Given the description of an element on the screen output the (x, y) to click on. 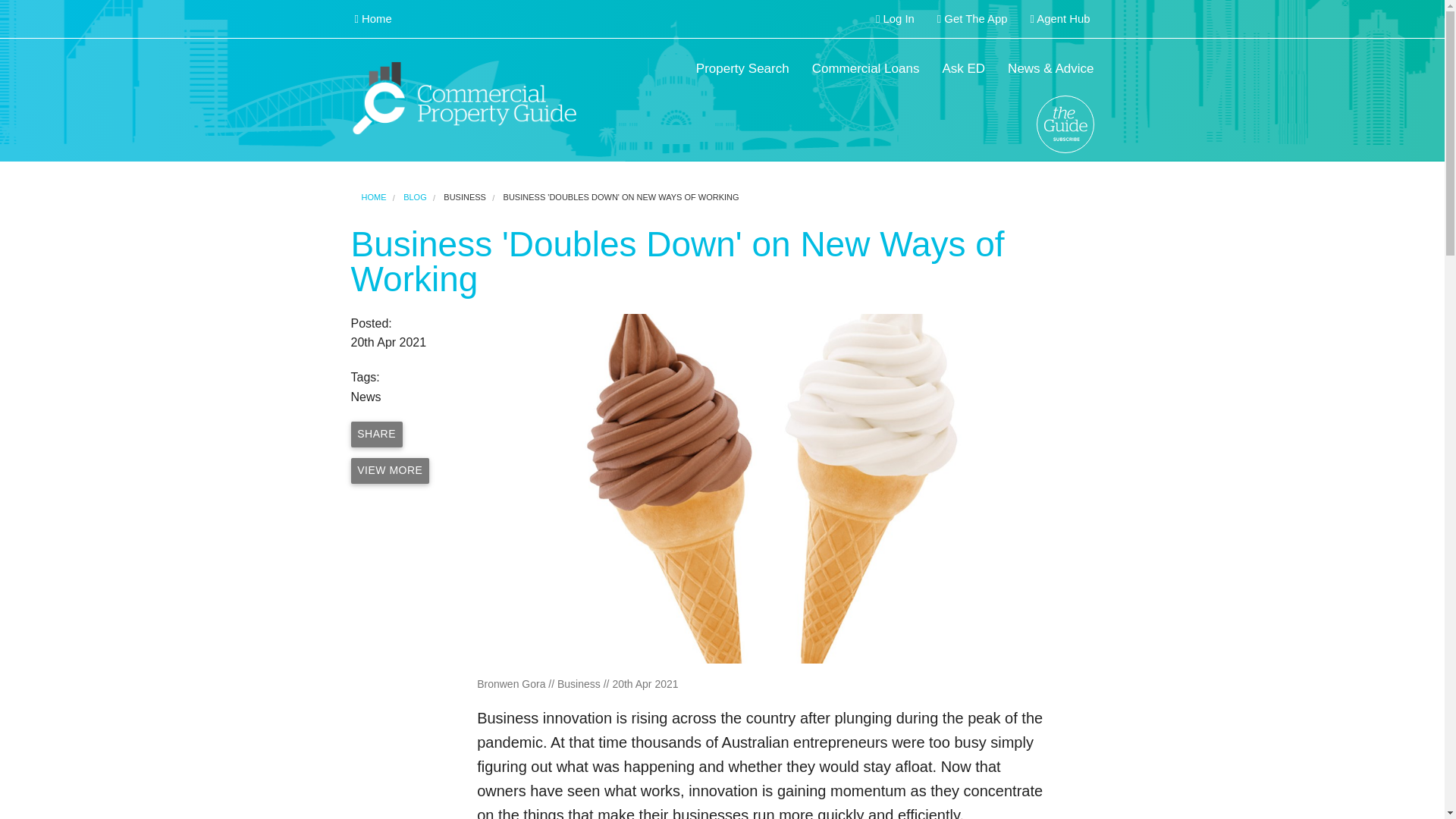
Log In (895, 19)
VIEW MORE (389, 470)
Get The App (972, 19)
Property Search (742, 69)
HOME (373, 196)
Home (372, 19)
Agent Hub (1060, 19)
Commercial Loans (865, 69)
BLOG (414, 196)
SHARE (376, 434)
Ask ED (962, 69)
